Given the description of an element on the screen output the (x, y) to click on. 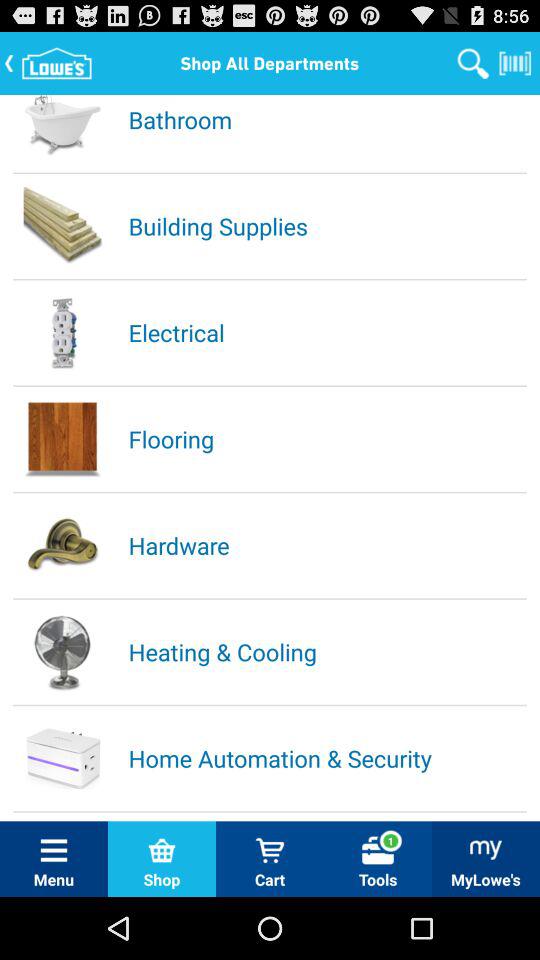
launch app above the flooring item (326, 332)
